Given the description of an element on the screen output the (x, y) to click on. 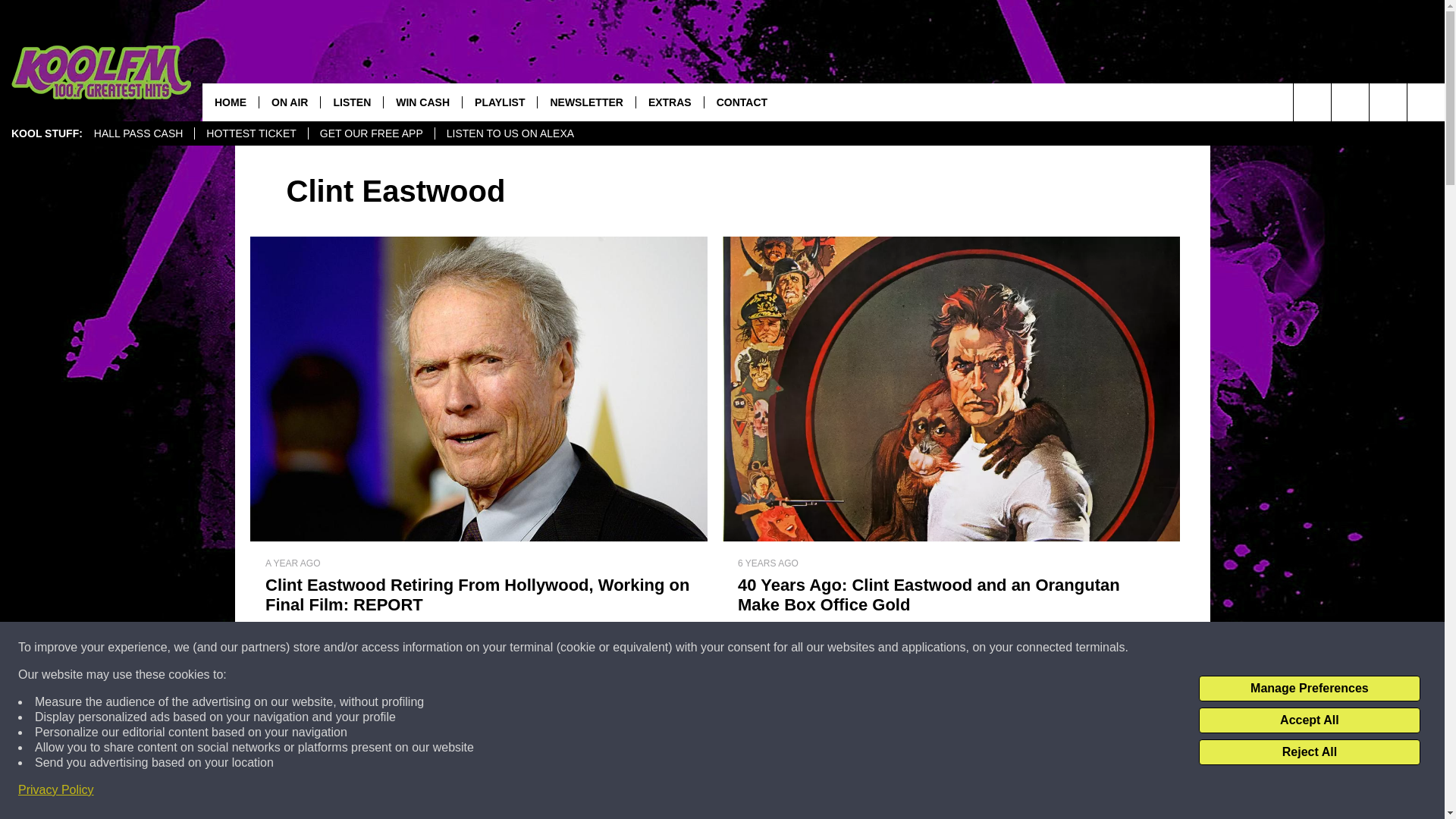
Accept All (1309, 720)
LISTEN TO US ON ALEXA (509, 133)
HALL PASS CASH (138, 133)
Manage Preferences (1309, 688)
PLAYLIST (499, 102)
HOME (230, 102)
Reject All (1309, 751)
ON AIR (289, 102)
GET OUR FREE APP (370, 133)
Privacy Policy (55, 789)
NEWSLETTER (585, 102)
WIN CASH (421, 102)
HOTTEST TICKET (250, 133)
CONTACT (740, 102)
EXTRAS (668, 102)
